Given the description of an element on the screen output the (x, y) to click on. 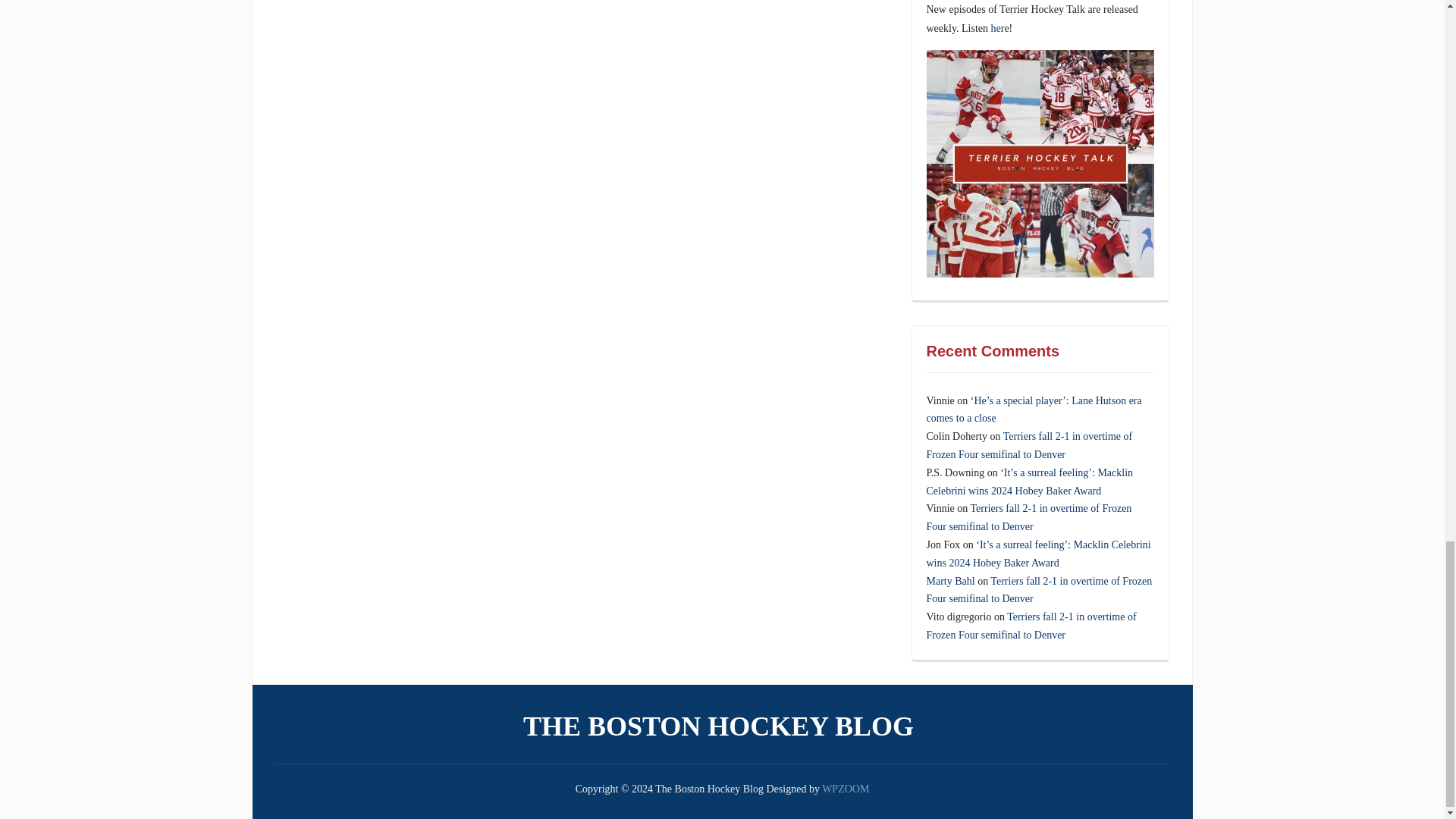
WPZOOM WordPress Themes (845, 788)
here (1000, 28)
